Given the description of an element on the screen output the (x, y) to click on. 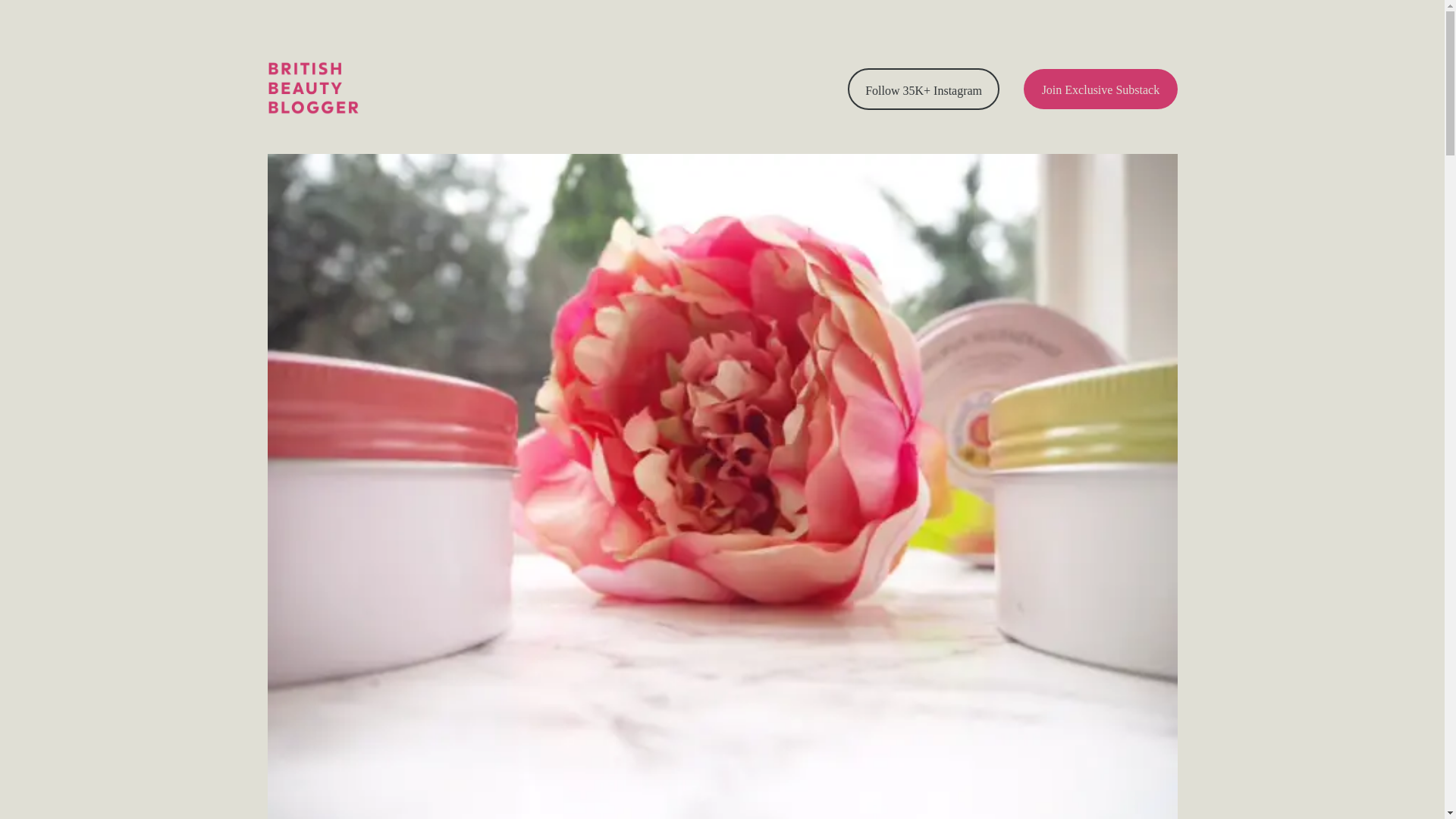
Join Exclusive Substack (1099, 88)
